Given the description of an element on the screen output the (x, y) to click on. 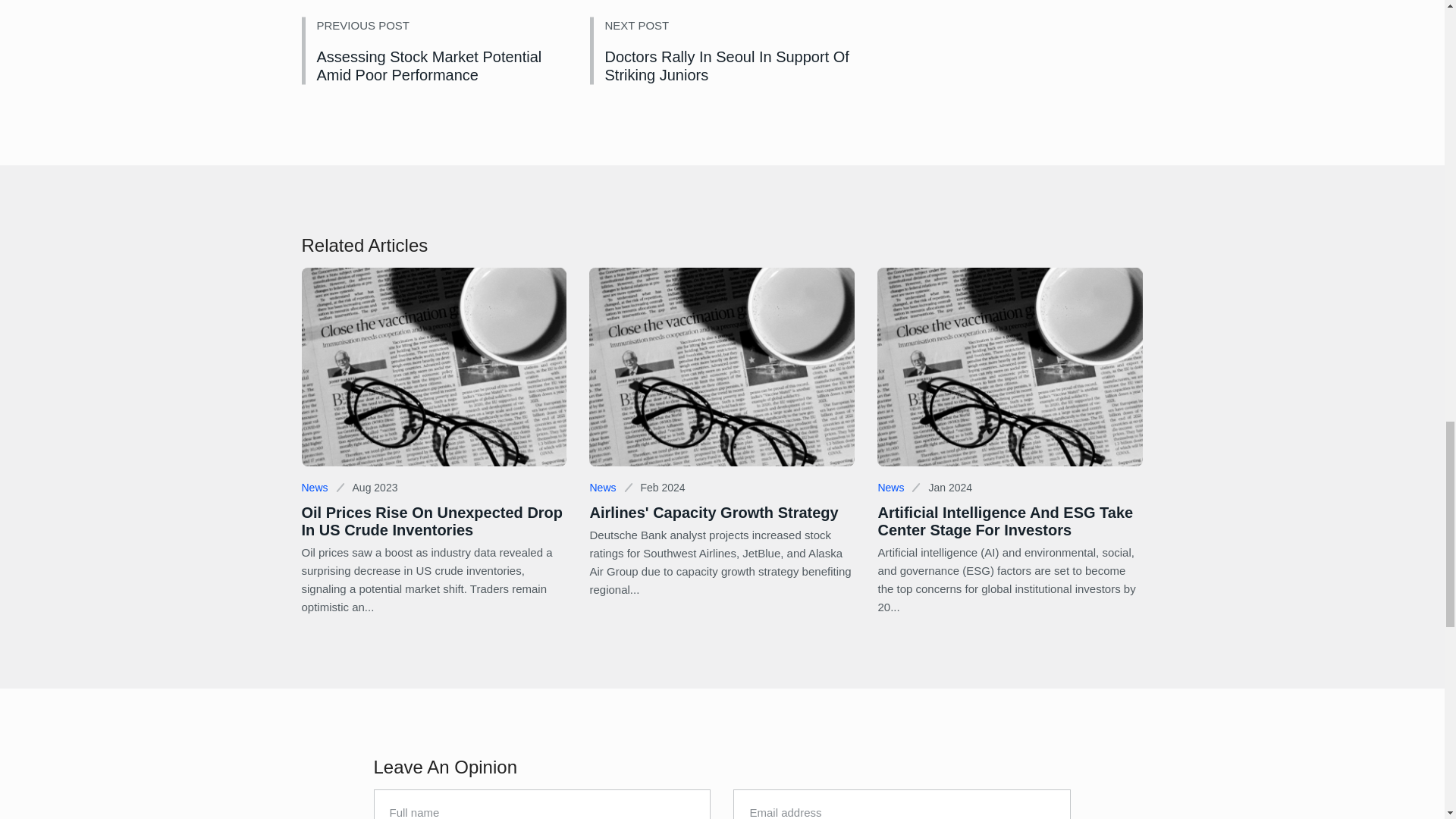
Assessing Stock Market Potential Amid Poor Performance (429, 65)
Doctors Rally In Seoul In Support Of Striking Juniors (726, 65)
